Given the description of an element on the screen output the (x, y) to click on. 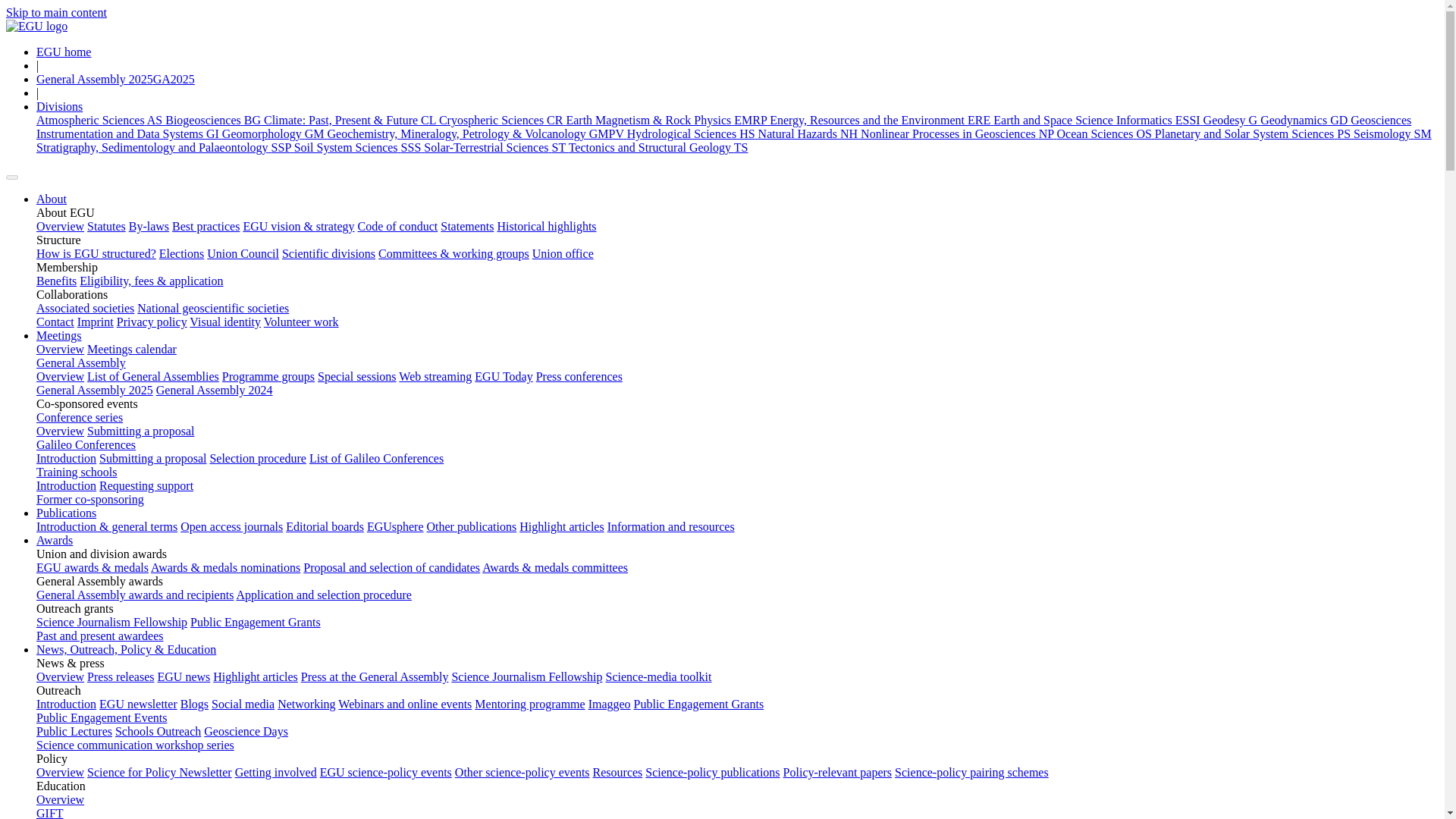
Biogeosciences BG (214, 119)
General Assembly 2025GA2025 (115, 78)
Planetary and Solar System Sciences PS (1254, 133)
Seismology (1392, 133)
Geomorphology GM (274, 133)
Historical highlights (545, 226)
Stratigraphy, Sedimentology and Palaeontology SSP (165, 146)
Code of conduct (397, 226)
Earth and Space Science Informatics (1097, 119)
Hydrological Sciences (692, 133)
